Given the description of an element on the screen output the (x, y) to click on. 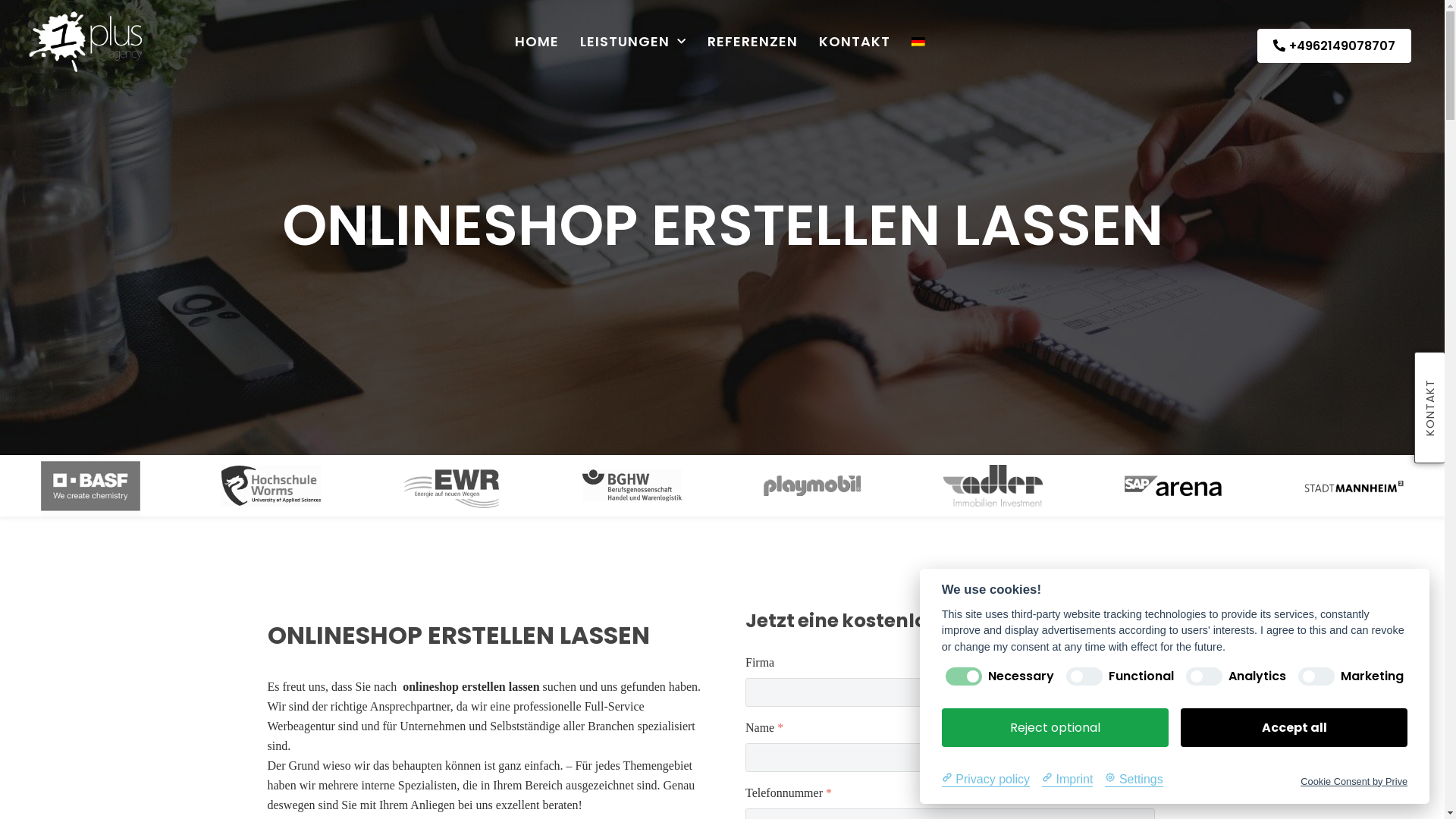
Cookie Consent by Prive Element type: text (1353, 780)
Reject optional Element type: text (1054, 727)
+4962149078707 Element type: text (1334, 45)
Imprint Element type: text (1066, 778)
Privacy policy Element type: text (985, 778)
KONTAKT Element type: text (854, 41)
LEISTUNGEN Element type: text (633, 41)
Accept all Element type: text (1293, 727)
Settings Element type: text (1133, 778)
REFERENZEN Element type: text (752, 41)
HOME Element type: text (536, 41)
